Given the description of an element on the screen output the (x, y) to click on. 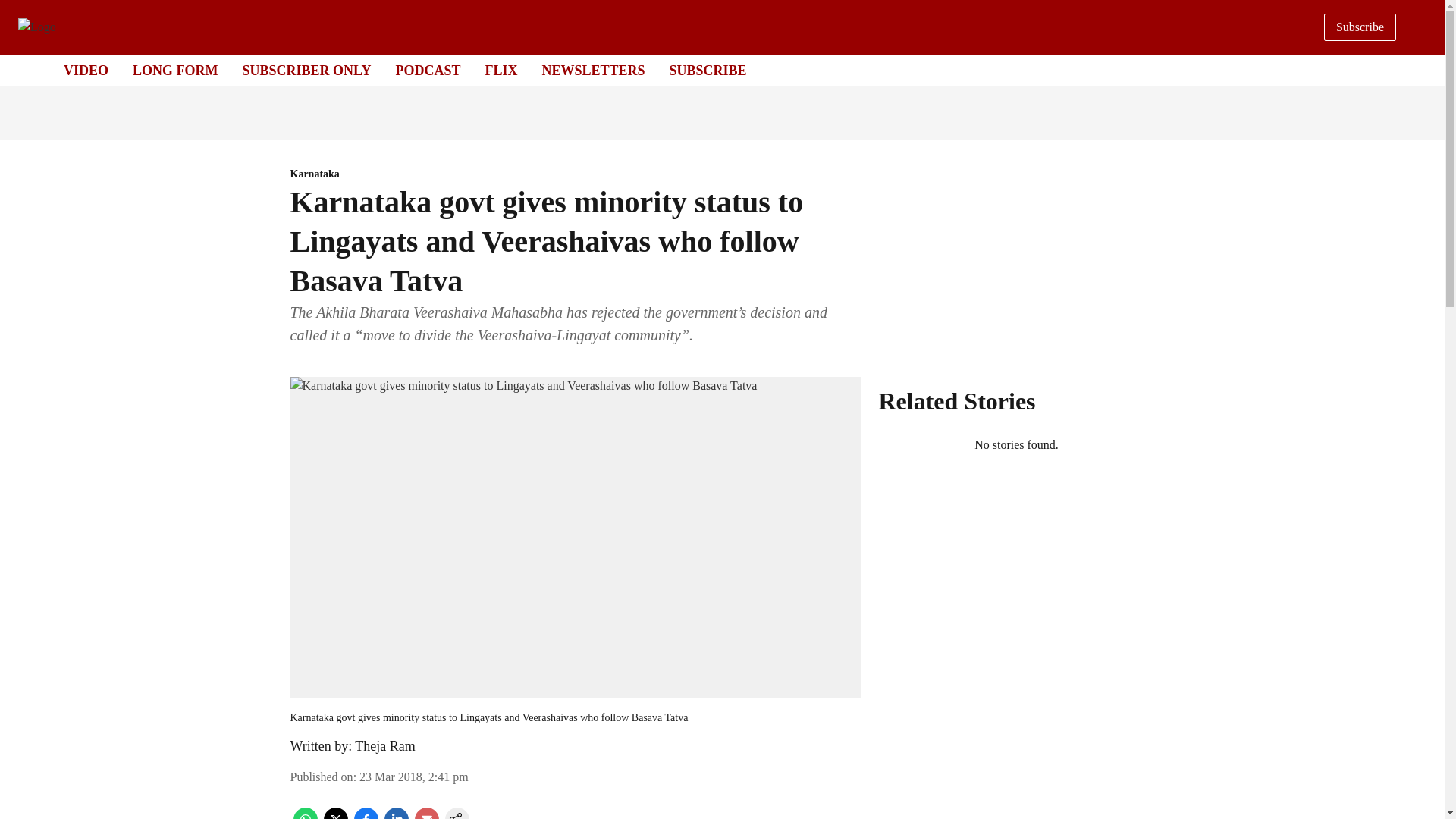
LONG FORM (175, 70)
SUBSCRIBE (707, 70)
SUBSCRIBER ONLY (307, 70)
Karnataka (574, 174)
VIDEO (85, 70)
FLIX (500, 70)
PODCAST (427, 70)
Theja Ram (384, 745)
2018-03-23 14:41 (413, 776)
